Given the description of an element on the screen output the (x, y) to click on. 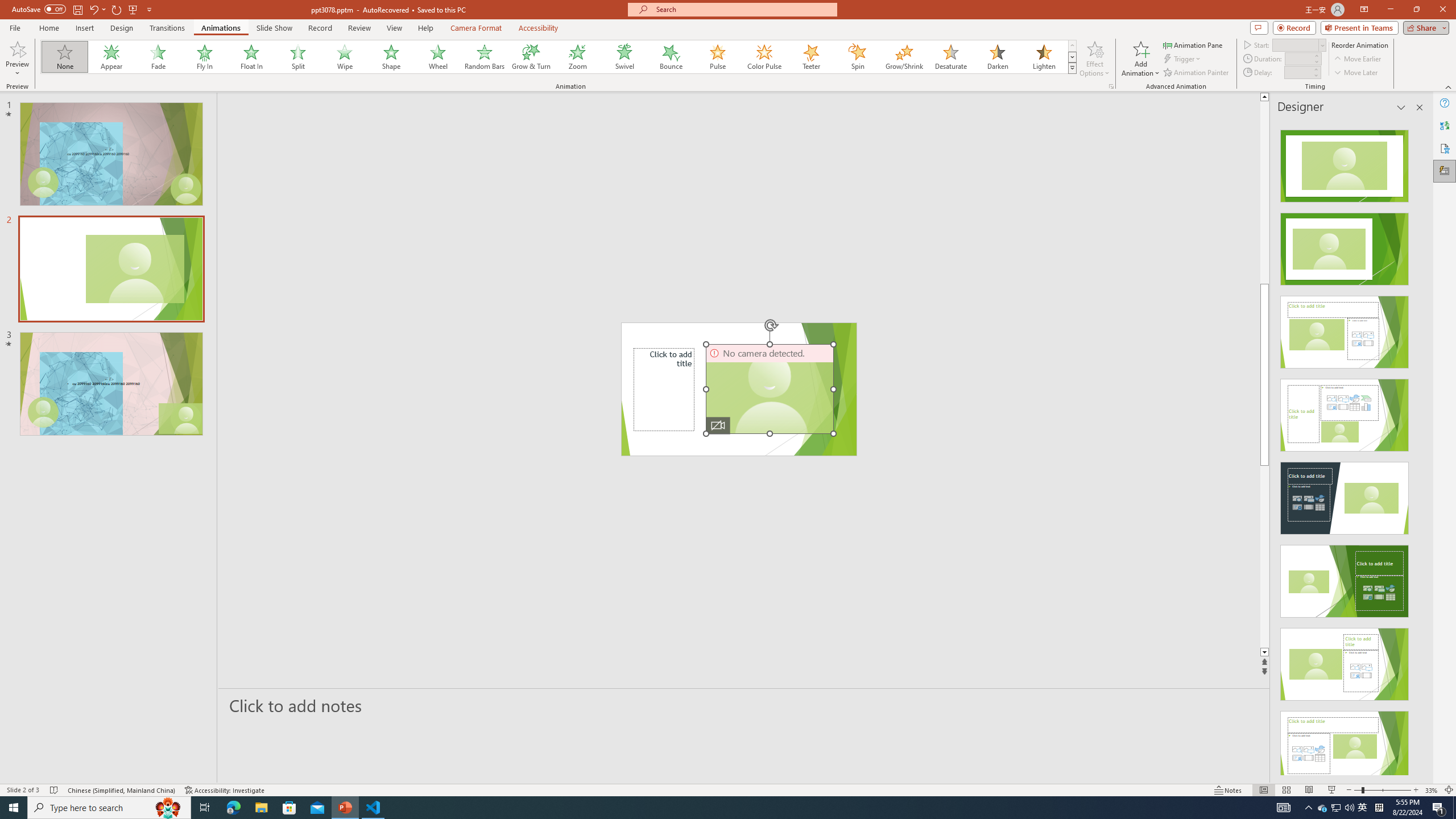
Less (1315, 75)
Fade (158, 56)
Float In (251, 56)
